Given the description of an element on the screen output the (x, y) to click on. 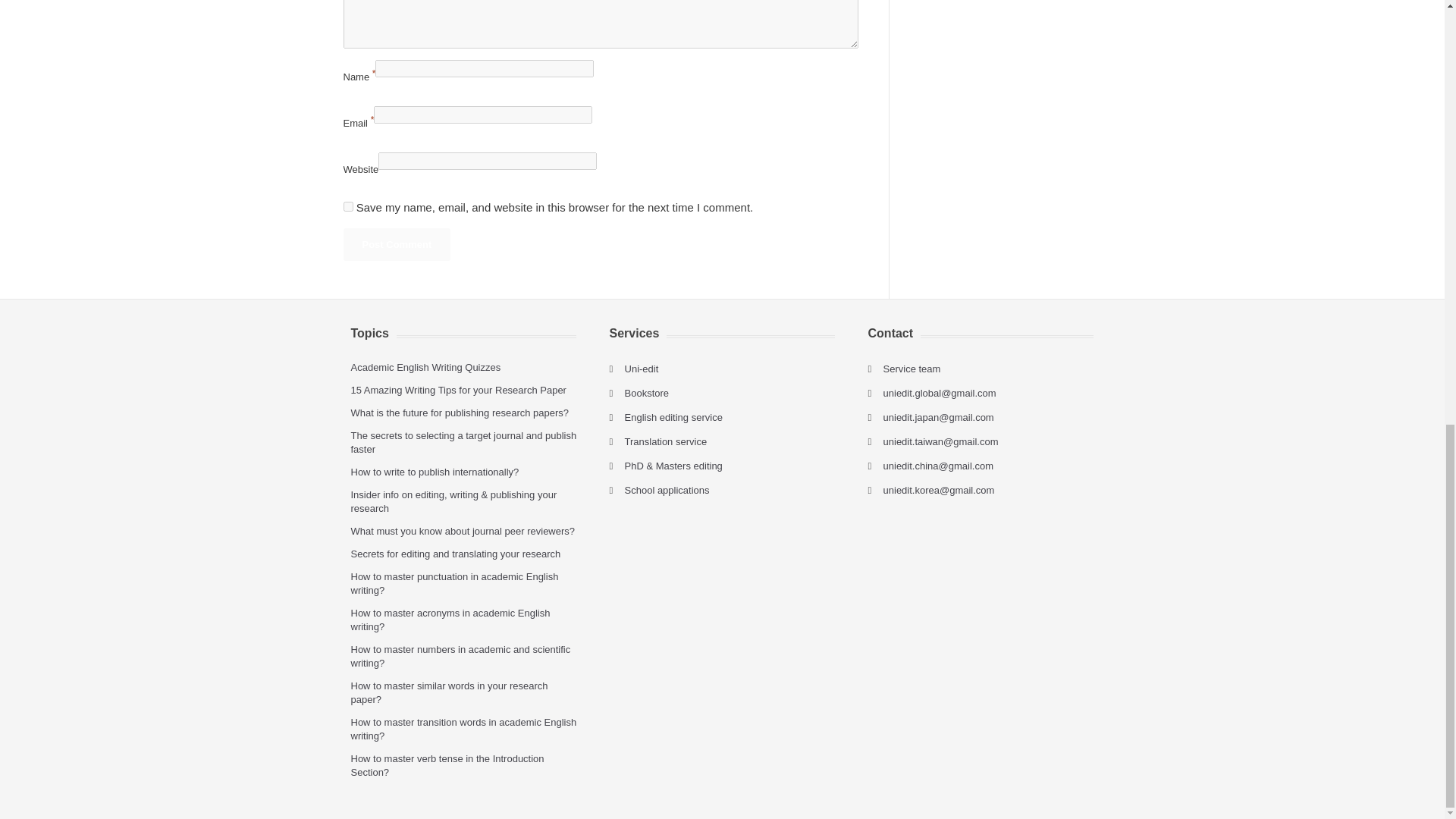
Bookstore (646, 392)
Academic English Writing Quizzes (425, 367)
What must you know about journal peer reviewers? (462, 531)
Service team (911, 368)
yes (347, 206)
Post Comment (395, 244)
How to master acronyms in academic English writing? (450, 619)
How to master verb tense in the Introduction Section? (446, 765)
The secrets to selecting a target journal and publish faster (463, 442)
Translation service (665, 441)
Secrets for editing and translating your research (455, 553)
School applications (667, 490)
What is the future for publishing research papers? (459, 412)
15 Amazing Writing Tips for your Research Paper (458, 389)
How to master numbers in academic and scientific writing? (460, 656)
